Given the description of an element on the screen output the (x, y) to click on. 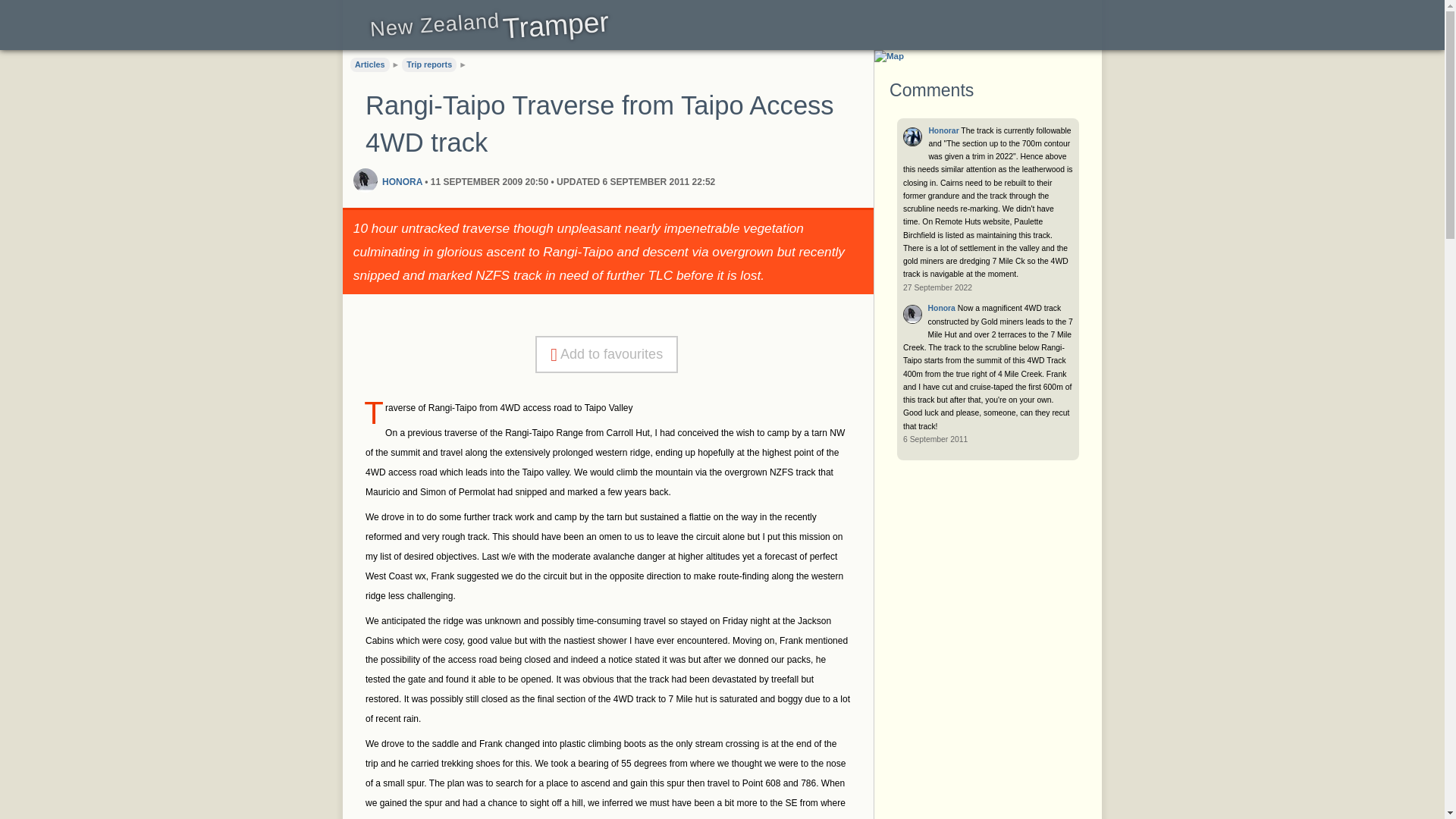
Home (488, 30)
View larger map (889, 55)
New Zealand Tramper (488, 30)
